Given the description of an element on the screen output the (x, y) to click on. 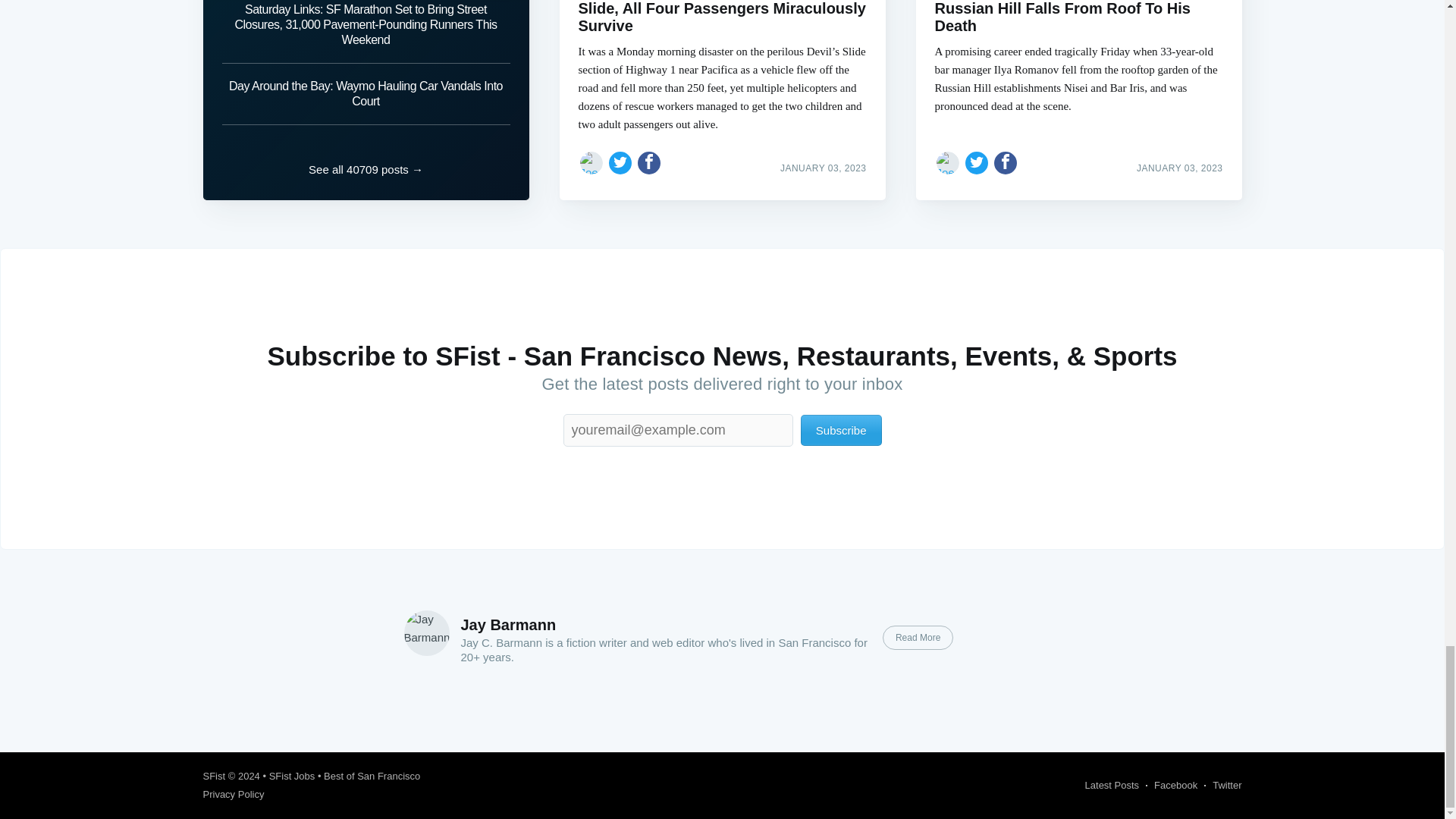
Share on Twitter (976, 162)
Share on Facebook (649, 162)
Share on Twitter (620, 162)
Share on Facebook (1004, 162)
